Given the description of an element on the screen output the (x, y) to click on. 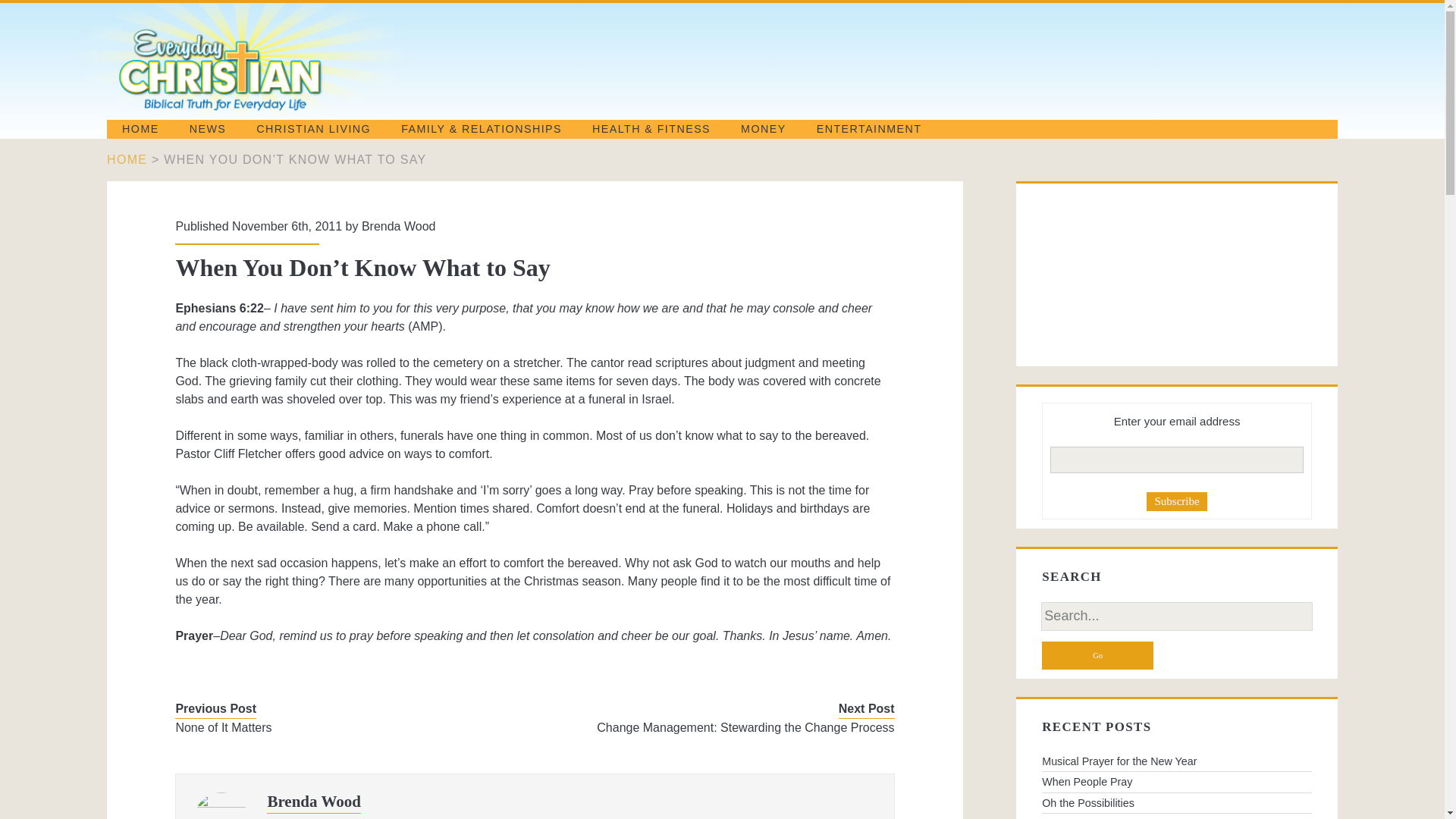
S.N.O.W (1176, 816)
HOME (126, 159)
Subscribe (1177, 501)
Advertisement (1117, 275)
Oh the Possibilities (1176, 803)
EVERYDAY CHRISTIAN (279, 109)
NEWS (208, 128)
Go (1097, 655)
CHRISTIAN LIVING (313, 128)
HOME (140, 128)
